Given the description of an element on the screen output the (x, y) to click on. 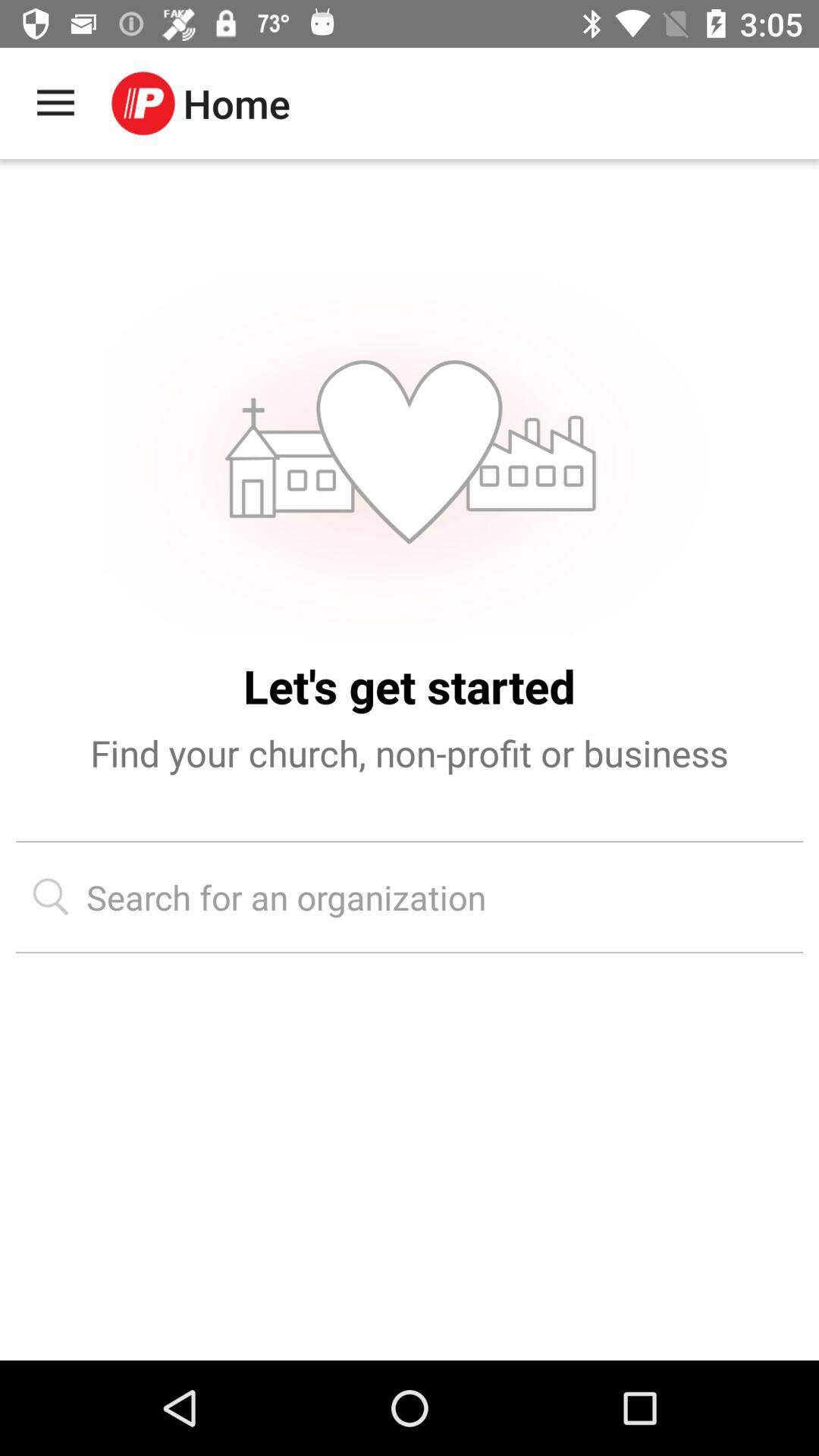
turn off the item above the let s get icon (409, 455)
